Given the description of an element on the screen output the (x, y) to click on. 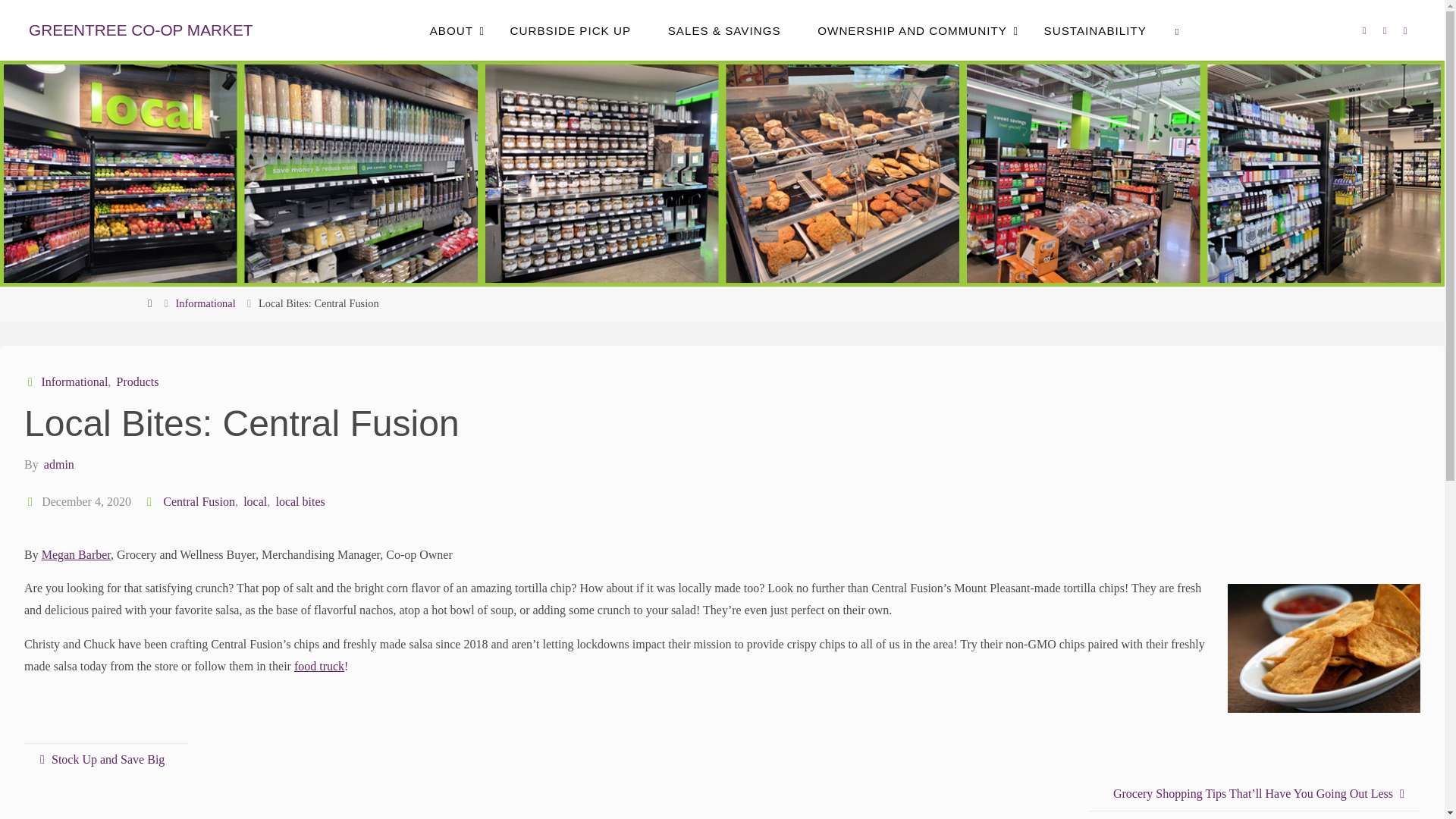
GREENTREE CO-OP MARKET (140, 29)
Tagged (149, 501)
Categories (31, 381)
View all posts by admin (58, 463)
Date (31, 501)
ABOUT (451, 30)
